Given the description of an element on the screen output the (x, y) to click on. 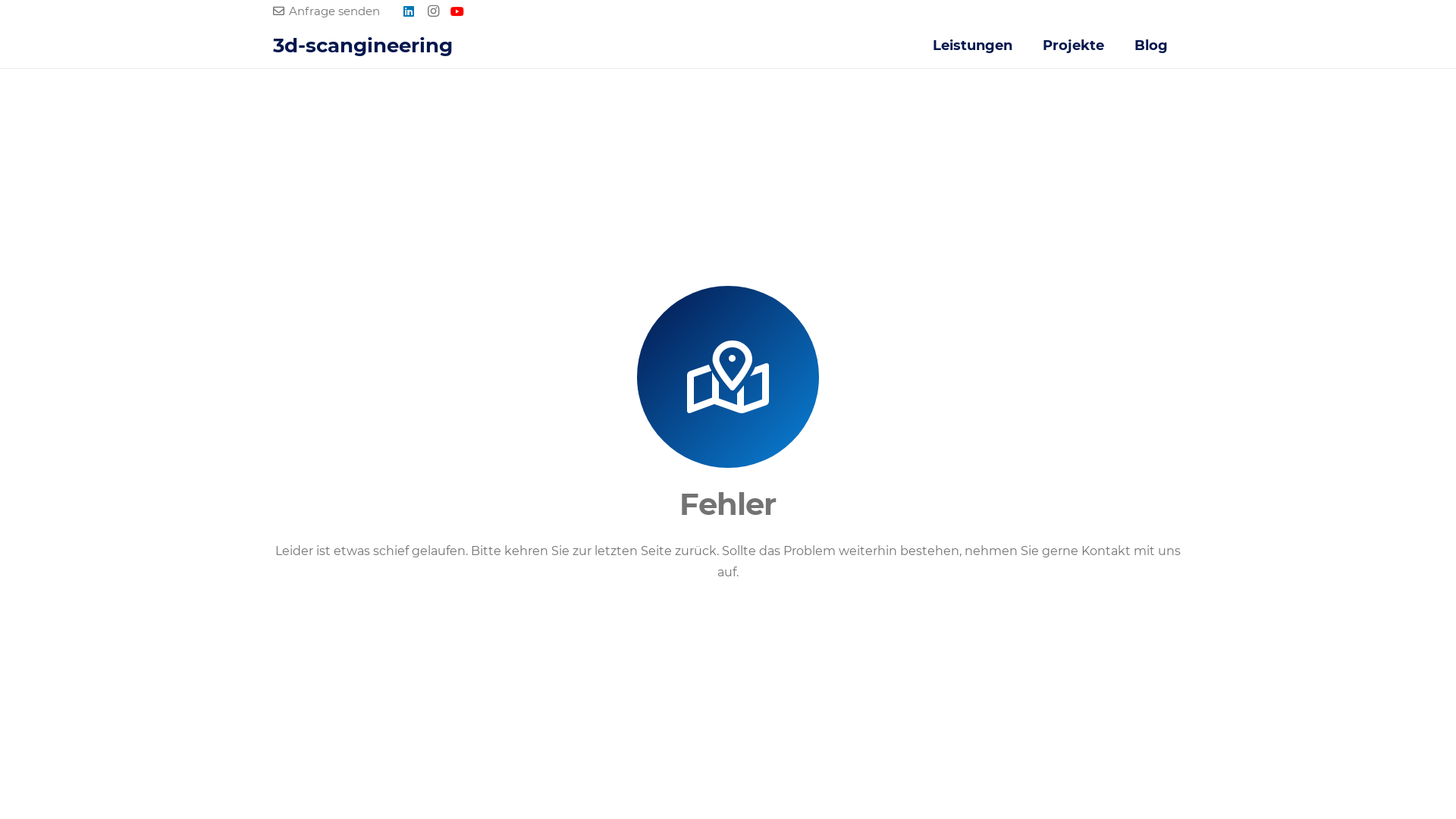
Leistungen Element type: text (972, 45)
Blog Element type: text (1151, 45)
Anfrage senden Element type: text (326, 10)
3d-scangineering Element type: text (362, 44)
Projekte Element type: text (1073, 45)
